Given the description of an element on the screen output the (x, y) to click on. 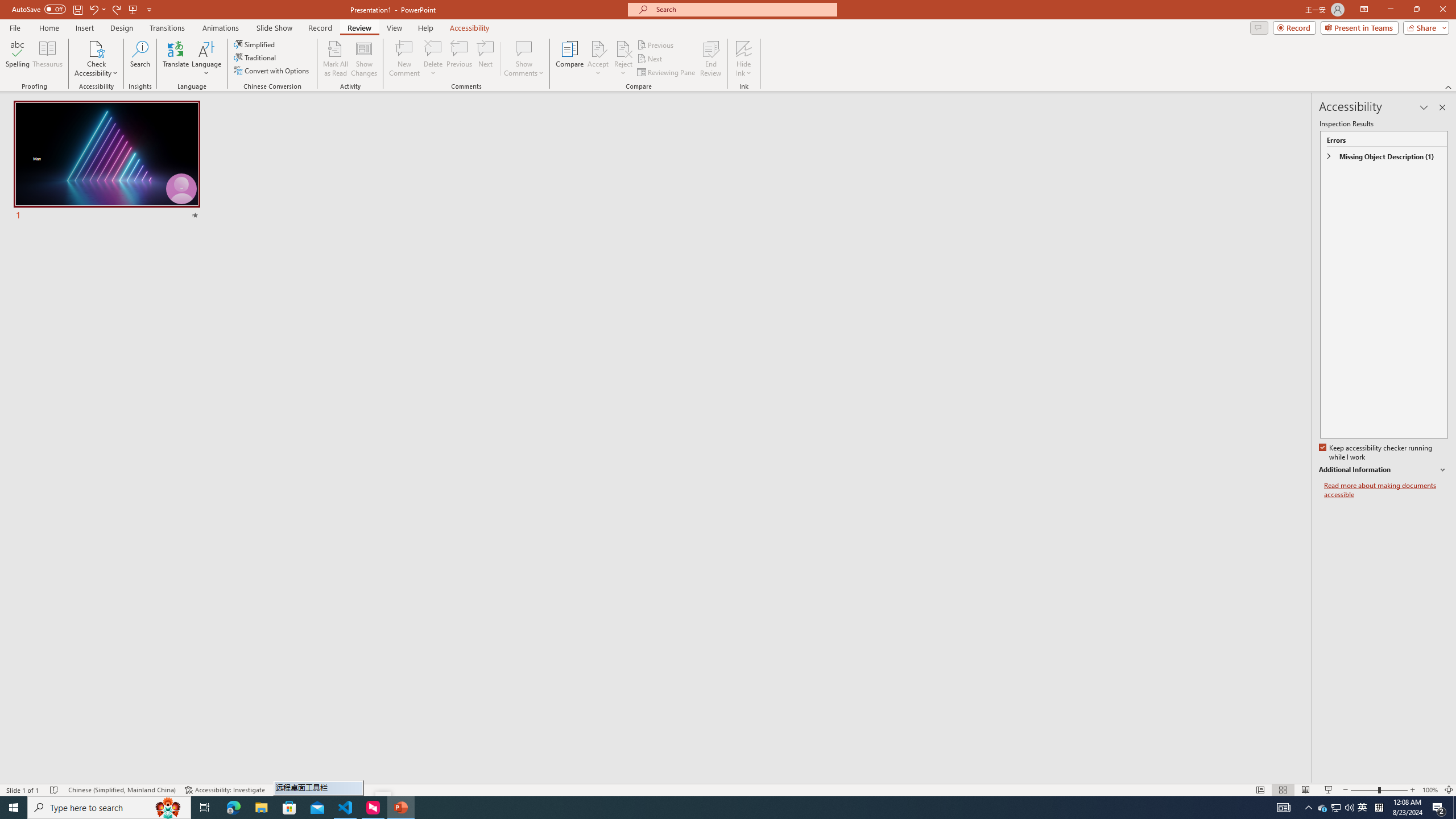
Thesaurus... (47, 58)
Simplified (254, 44)
Previous (655, 44)
